Given the description of an element on the screen output the (x, y) to click on. 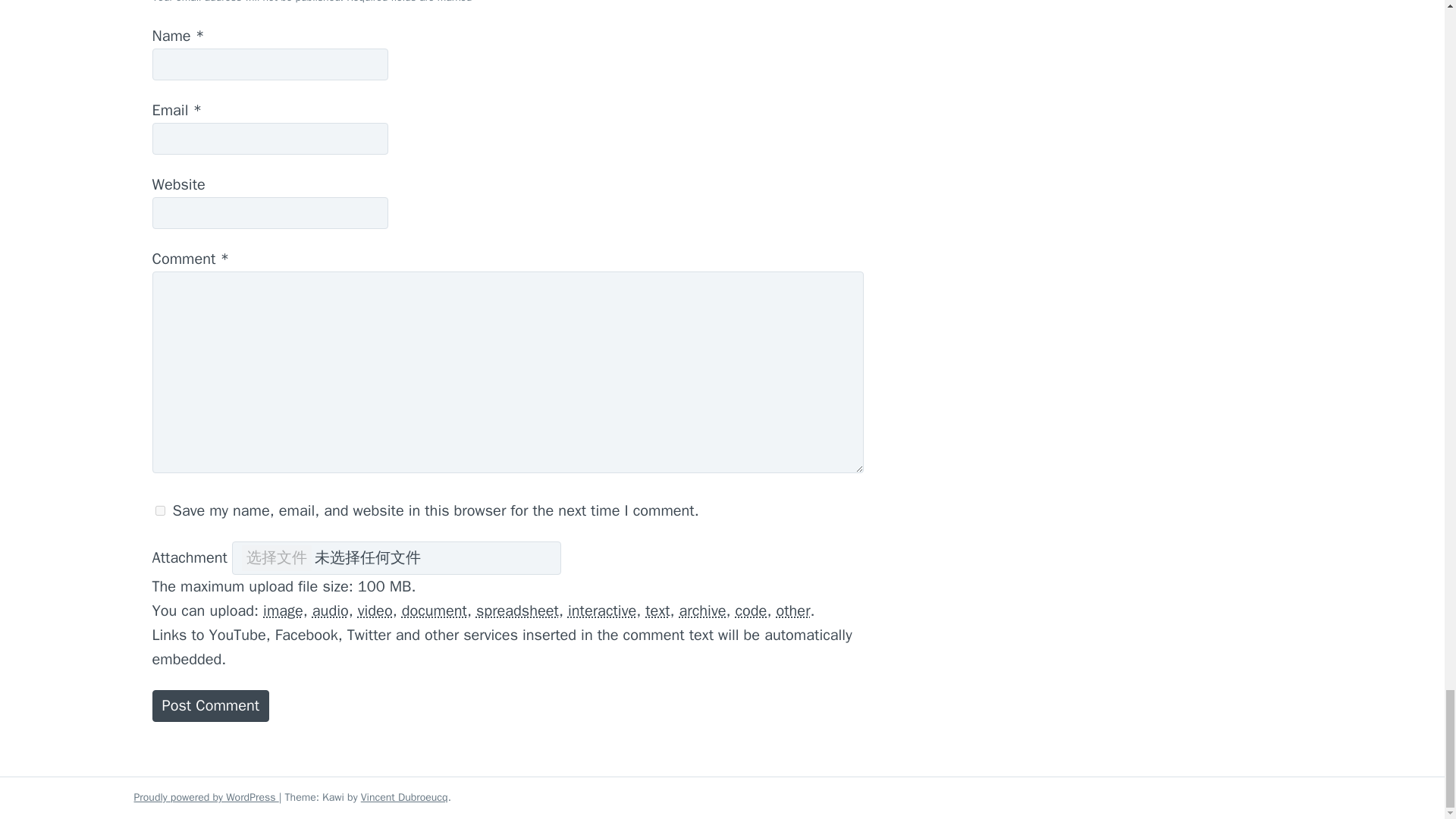
yes (159, 510)
jpg, jpeg, jpe, gif, png, bmp, tiff, tif, webp, ico, heic (282, 610)
Post Comment (210, 705)
mp3, m4a, m4b, aac, ram, wav, ogg, oga, flac, wma, mka (331, 610)
